Given the description of an element on the screen output the (x, y) to click on. 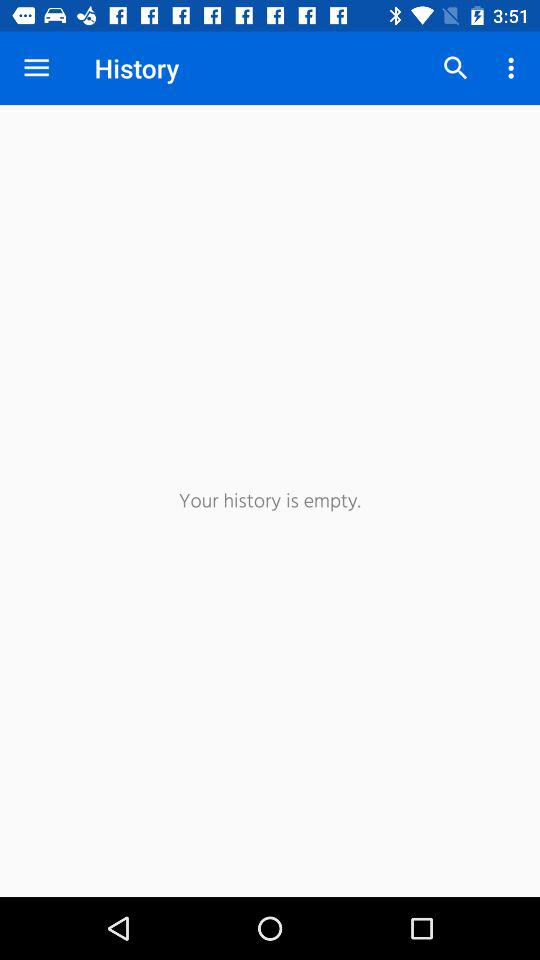
turn off the icon to the right of the history item (455, 67)
